Given the description of an element on the screen output the (x, y) to click on. 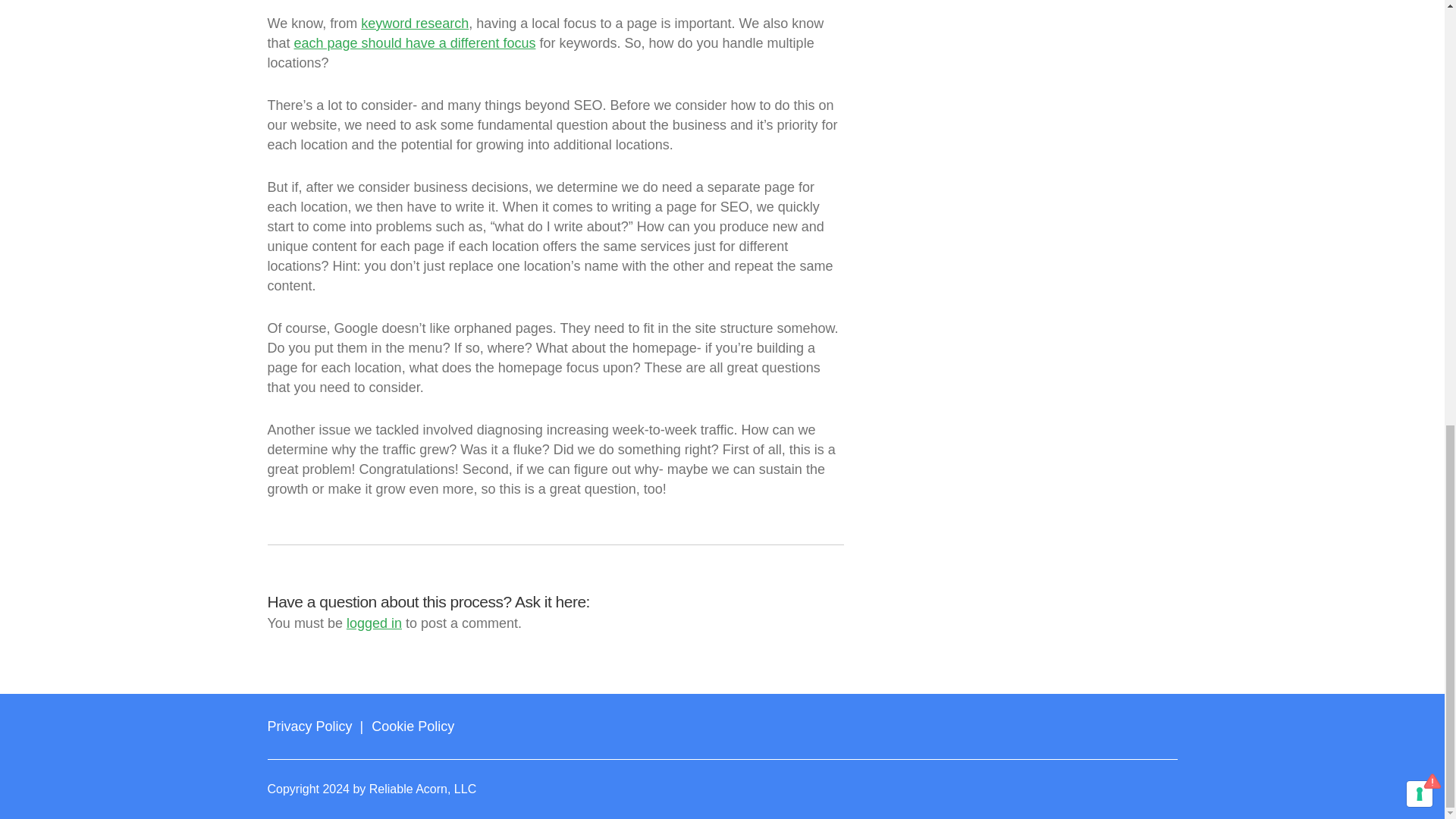
keyword research (414, 23)
Should I build a page on my website for every location? (456, 4)
each page should have a different focus (414, 43)
logged in (373, 622)
